Given the description of an element on the screen output the (x, y) to click on. 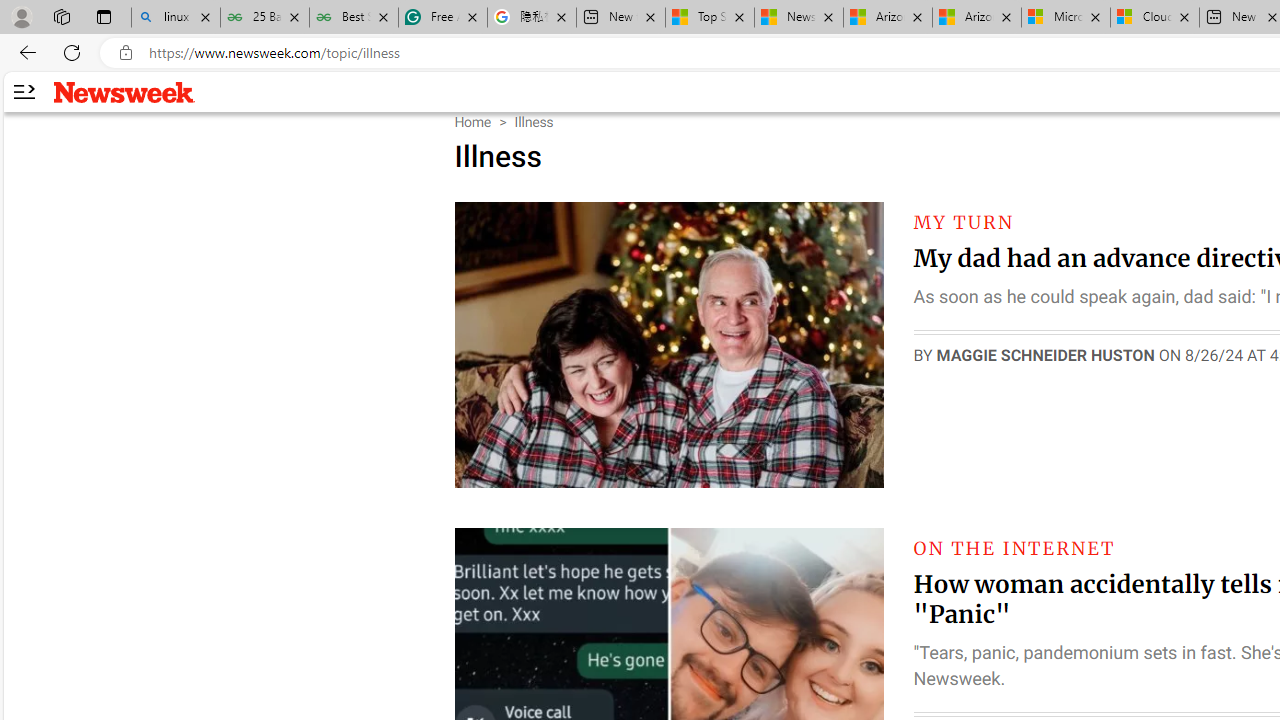
AutomationID: side-arrow (23, 92)
25 Basic Linux Commands For Beginners - GeeksforGeeks (264, 17)
linux basic - Search (175, 17)
Newsweek logo (123, 91)
Microsoft Services Agreement (1065, 17)
